Given the description of an element on the screen output the (x, y) to click on. 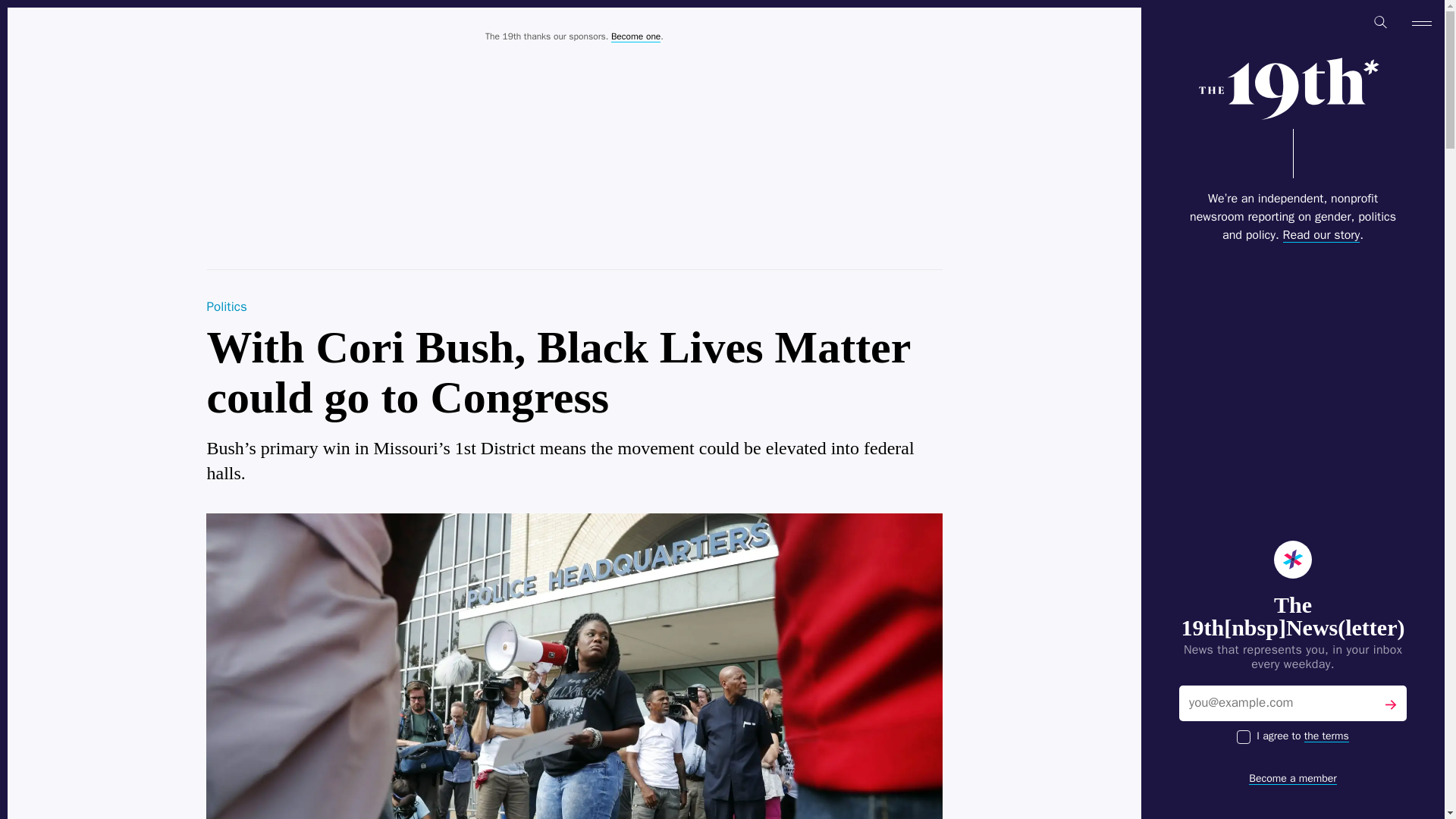
on (1243, 736)
